Given the description of an element on the screen output the (x, y) to click on. 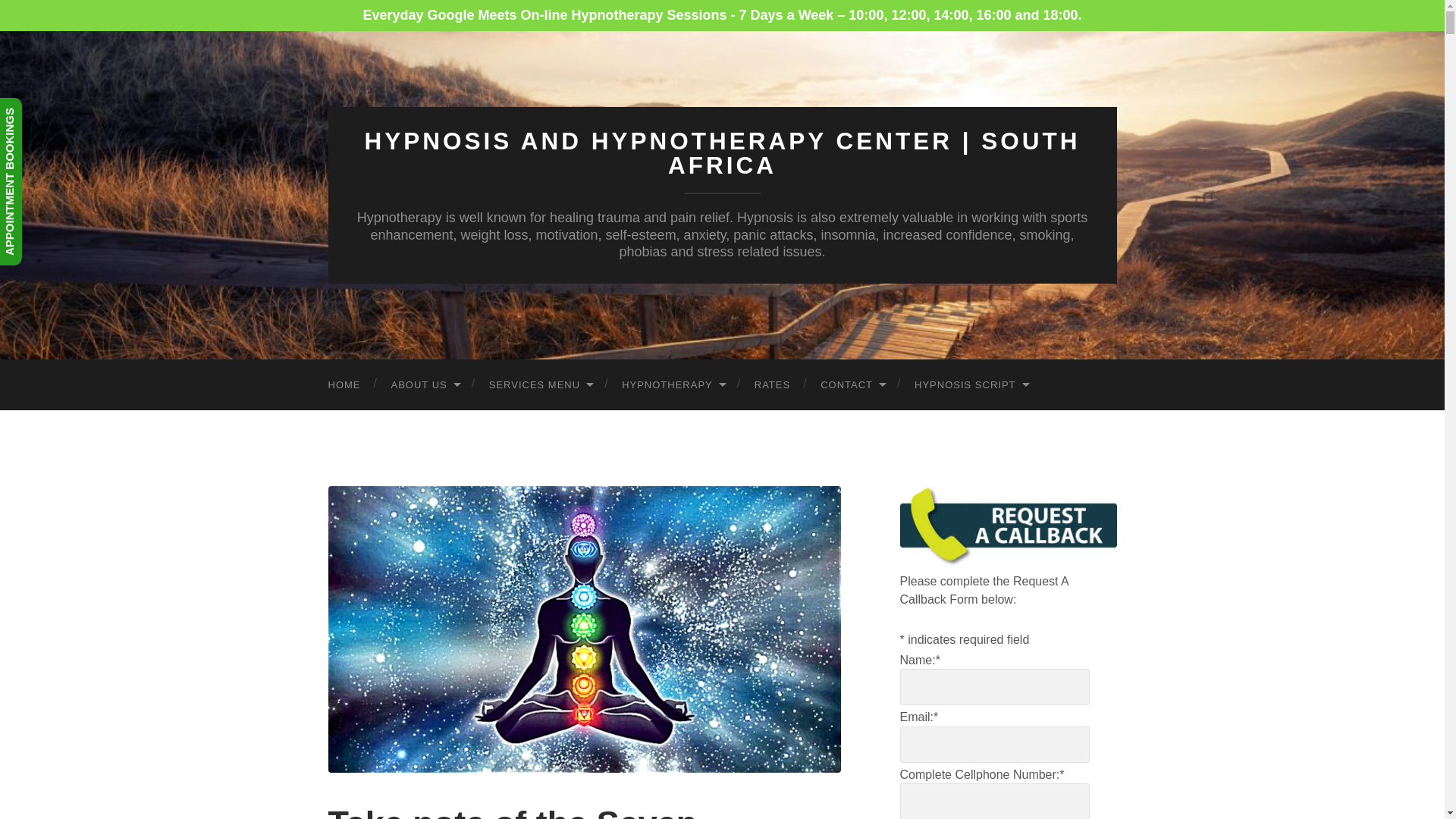
HYPNOTHERAPY (673, 384)
SERVICES MENU (540, 384)
HOME (344, 384)
ABOUT US (424, 384)
